Given the description of an element on the screen output the (x, y) to click on. 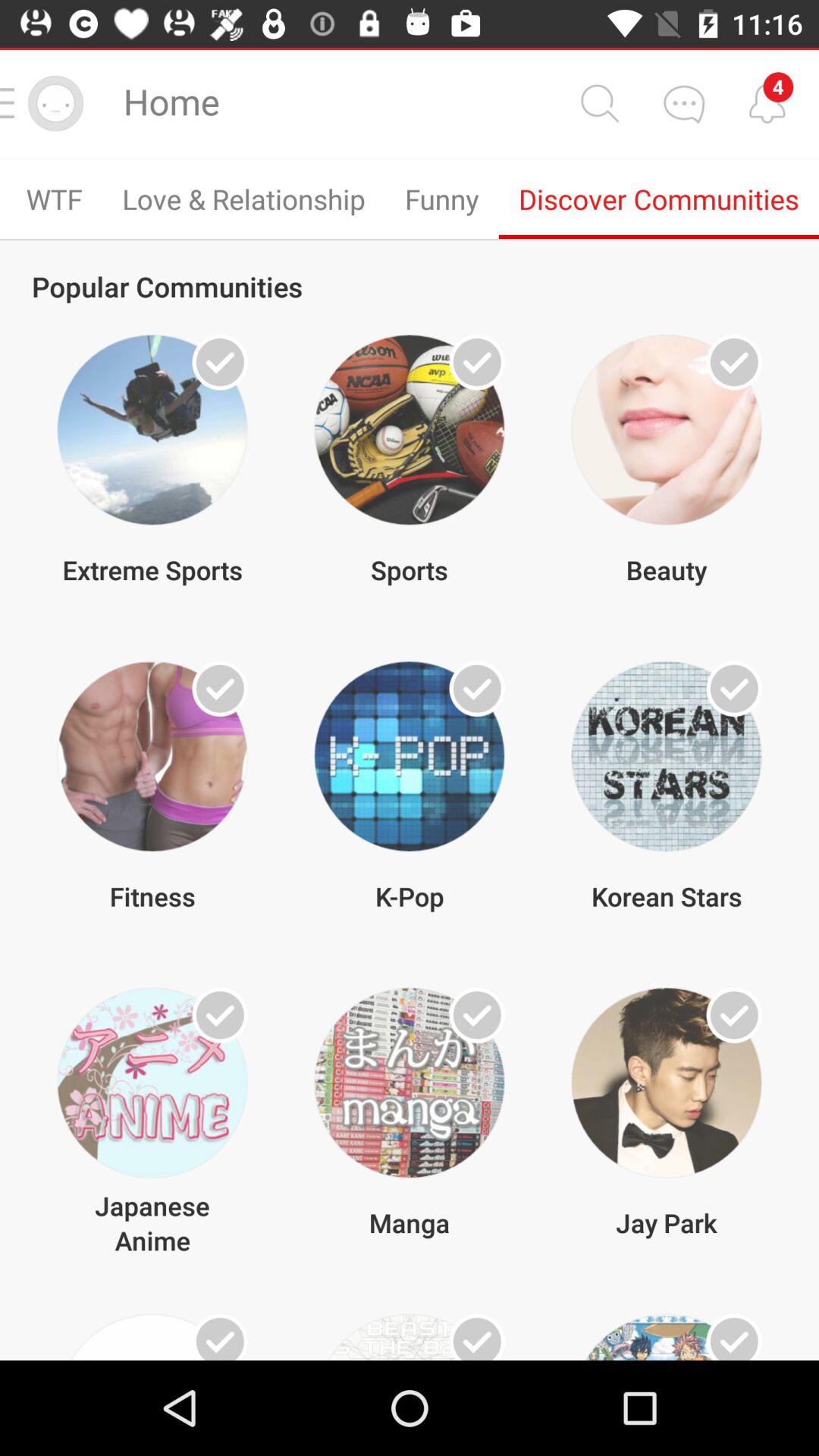
select topics of interest (477, 688)
